Given the description of an element on the screen output the (x, y) to click on. 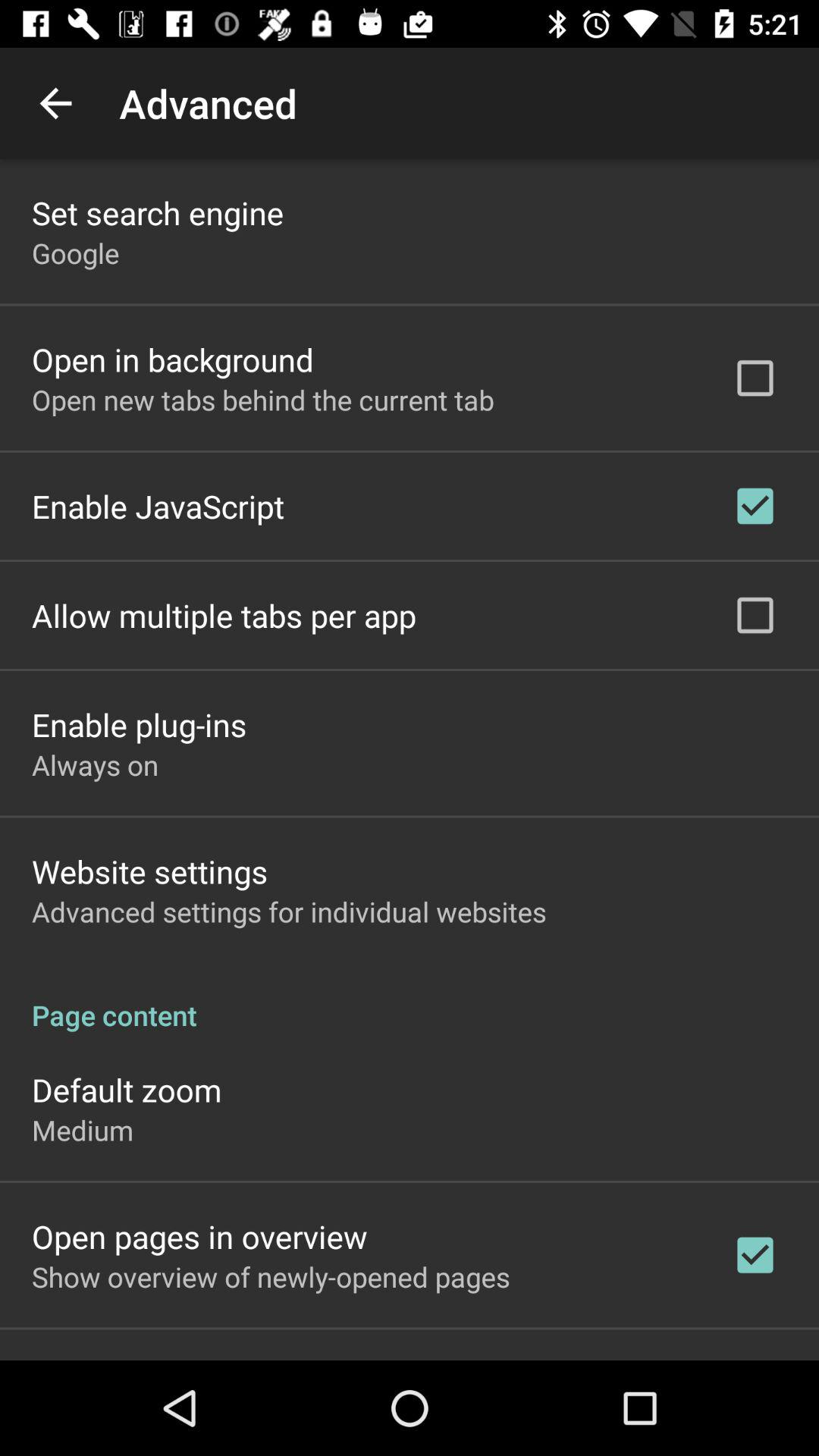
launch advanced settings for (288, 911)
